Given the description of an element on the screen output the (x, y) to click on. 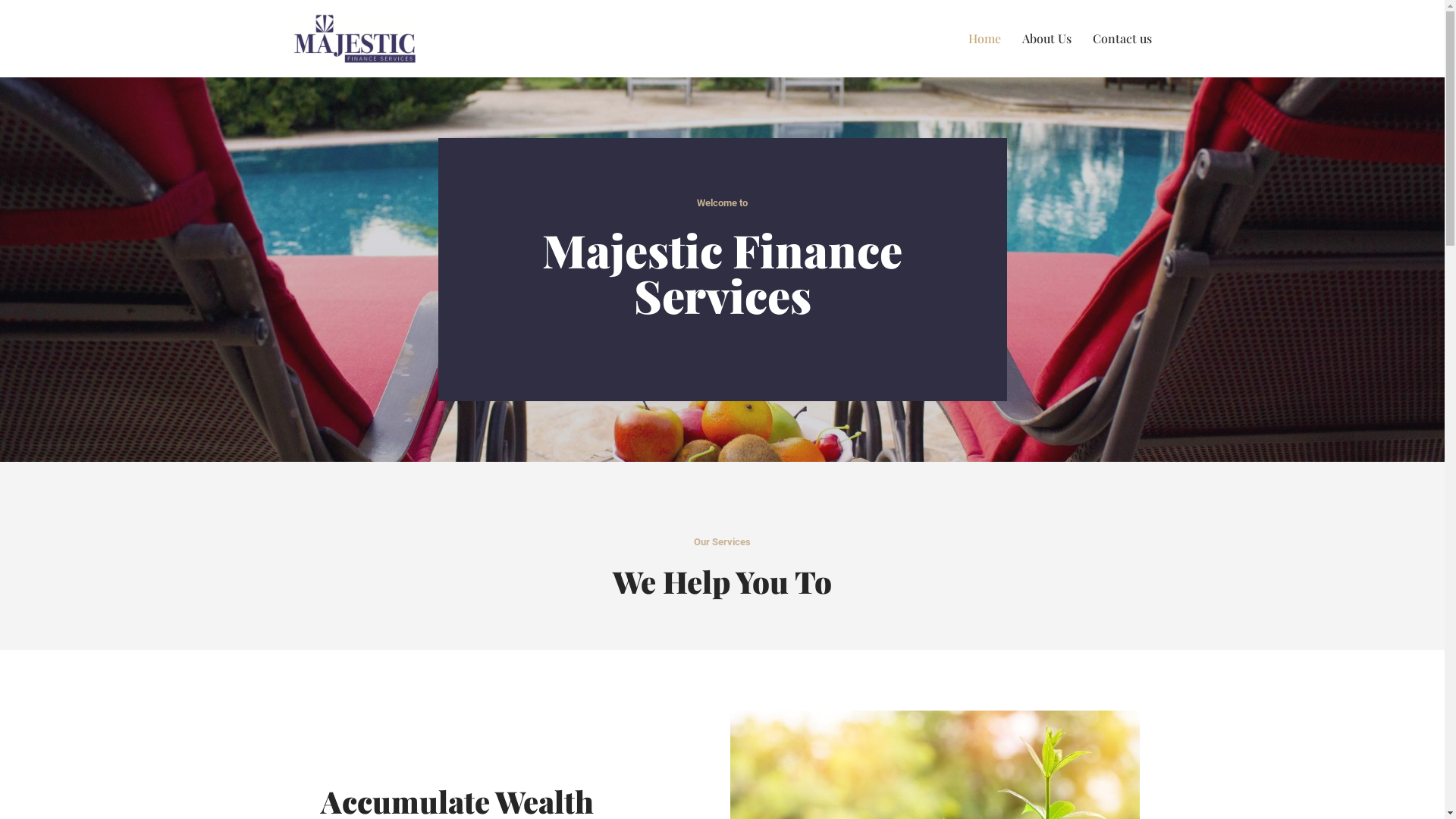
Contact us Element type: text (1121, 38)
Home Element type: text (983, 38)
Skip to content Element type: text (11, 31)
About Us Element type: text (1046, 38)
